Given the description of an element on the screen output the (x, y) to click on. 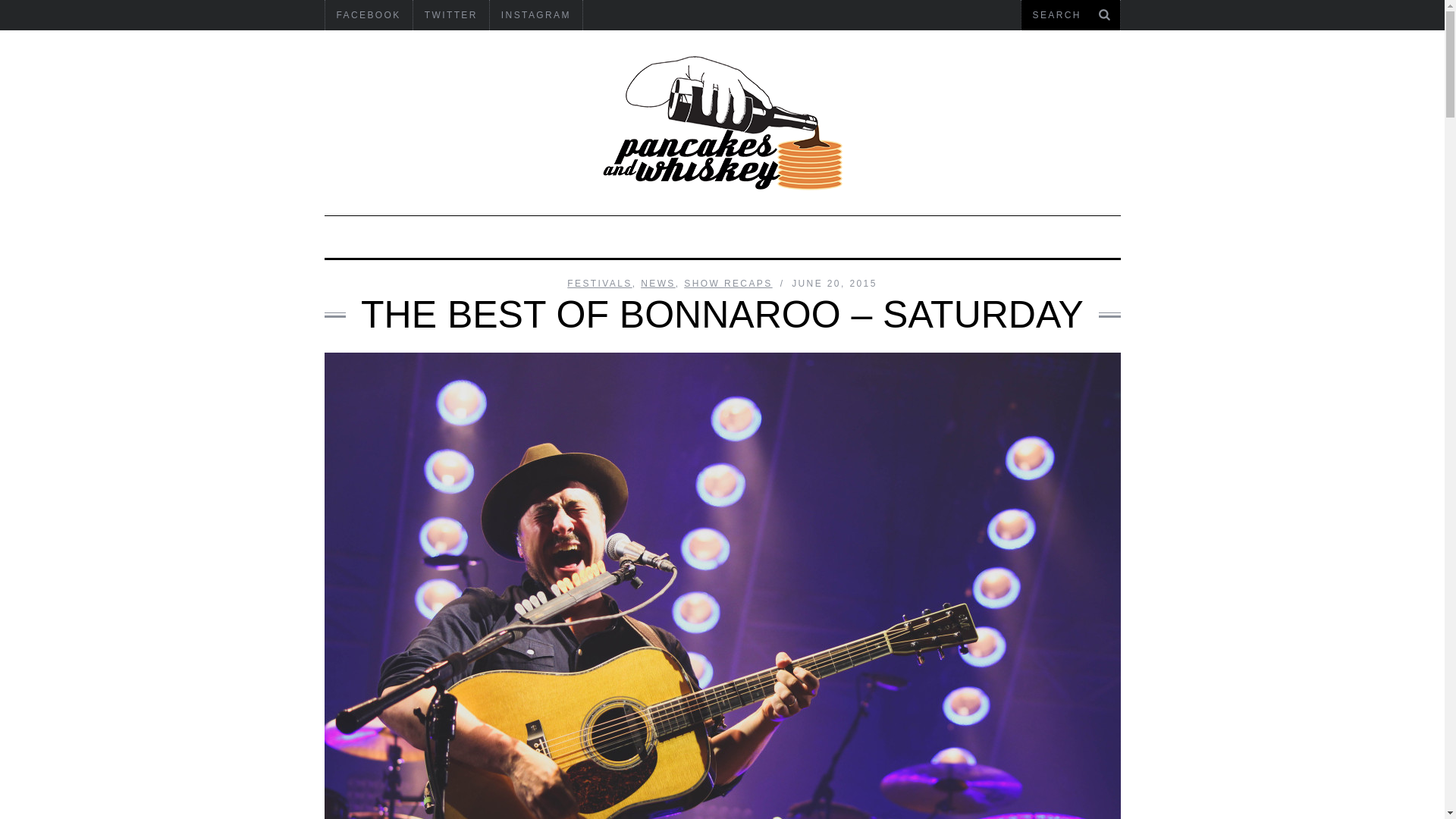
TWITTER (451, 14)
FACEBOOK (368, 14)
FESTIVALS (599, 283)
INSTAGRAM (535, 14)
Search (1070, 15)
Pancakes And Whiskey - NYC Music Website (722, 122)
NEWS (657, 283)
SHOW RECAPS (727, 283)
